Given the description of an element on the screen output the (x, y) to click on. 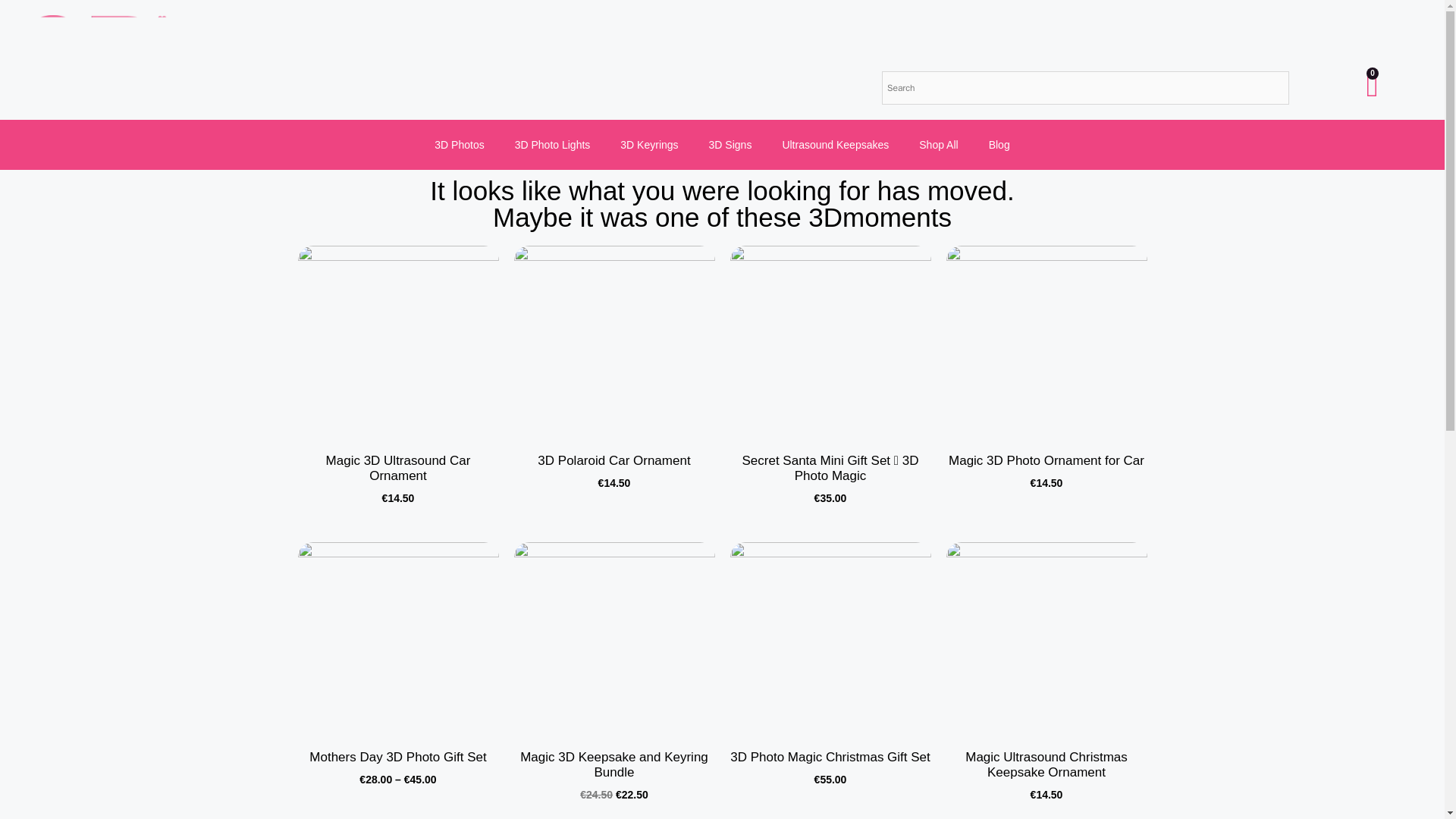
3D Signs (730, 144)
0 (1371, 84)
3D Photos (459, 144)
Ultrasound Keepsakes (835, 144)
3D Photo Lights (552, 144)
Blog (999, 144)
Shop All (938, 144)
3D Keyrings (649, 144)
